Given the description of an element on the screen output the (x, y) to click on. 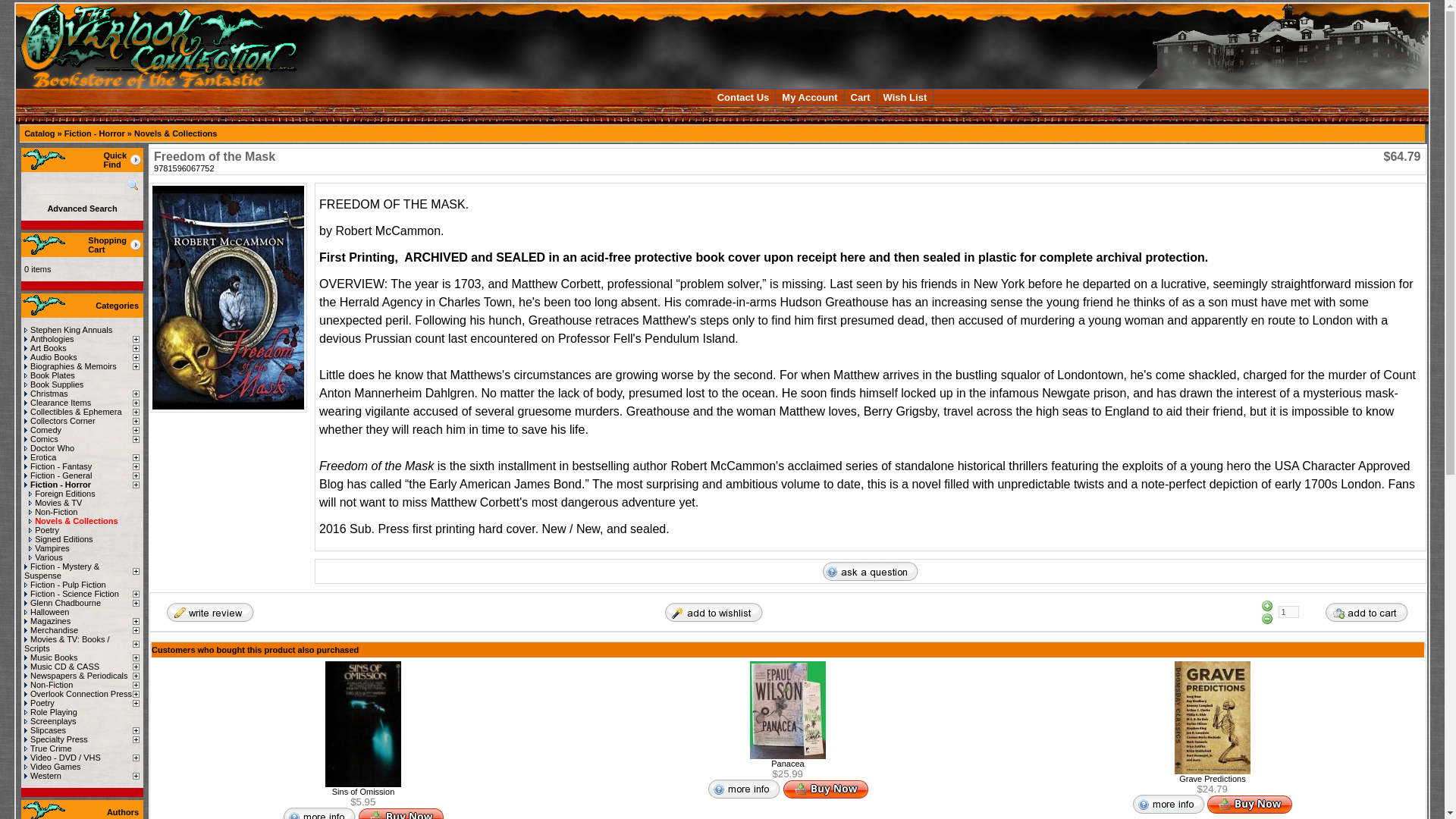
wishlist (712, 610)
Fiction - Fantasy (57, 465)
Comedy (42, 429)
 The Overlook Connection Press and Bookstore  (157, 46)
Anthologies (49, 338)
 Buy Now  (825, 789)
Art Books (45, 347)
Christmas (46, 393)
Book Plates (49, 375)
 Write Review  (209, 610)
